Given the description of an element on the screen output the (x, y) to click on. 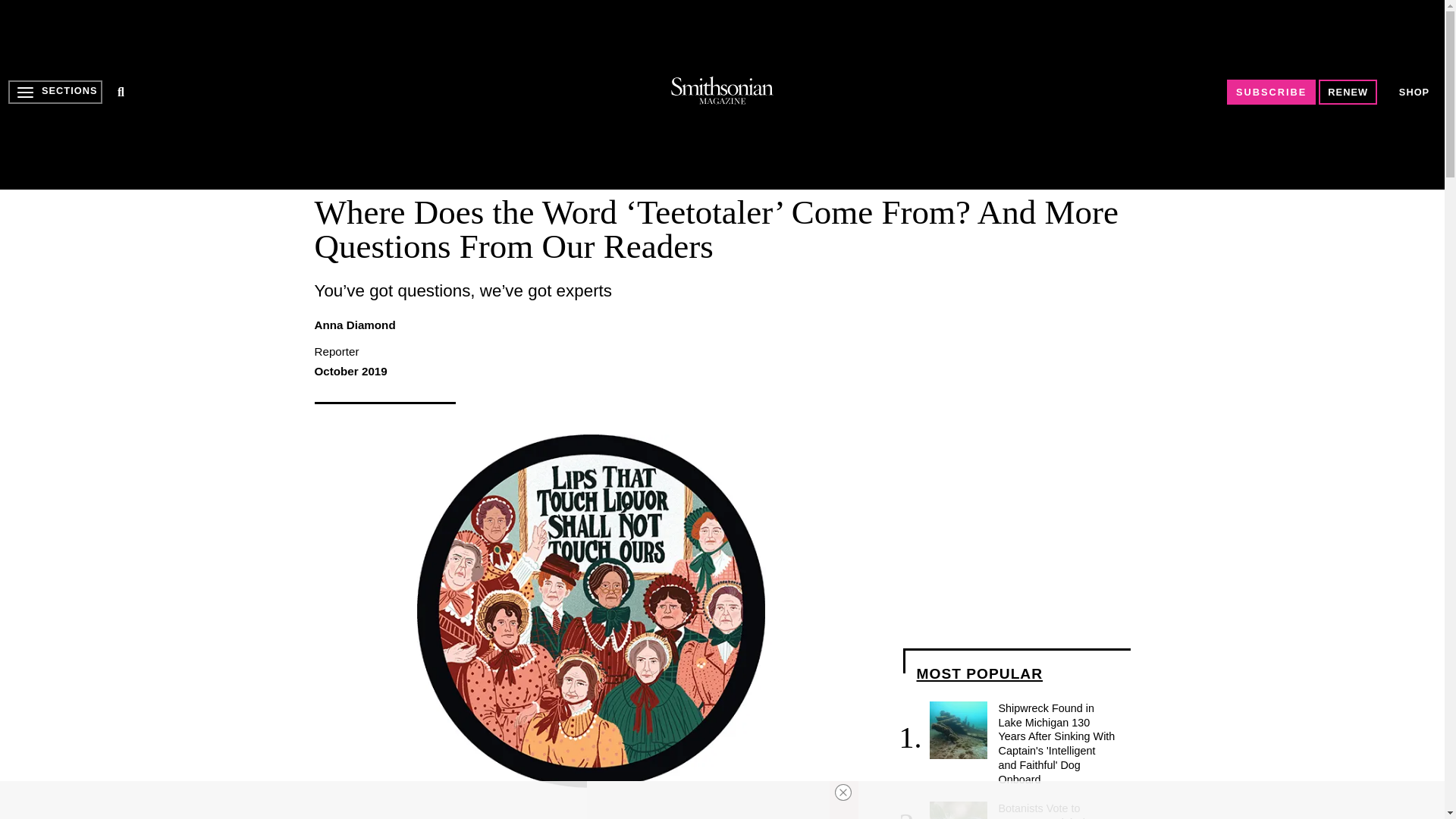
3rd party ad content (1015, 529)
RENEW (1347, 91)
3rd party ad content (707, 800)
SUBSCRIBE (1271, 91)
RENEW (1348, 91)
SECTIONS (55, 91)
SHOP (1413, 91)
3rd party ad content (721, 94)
SHOP (1414, 91)
SUBSCRIBE (1271, 91)
